Given the description of an element on the screen output the (x, y) to click on. 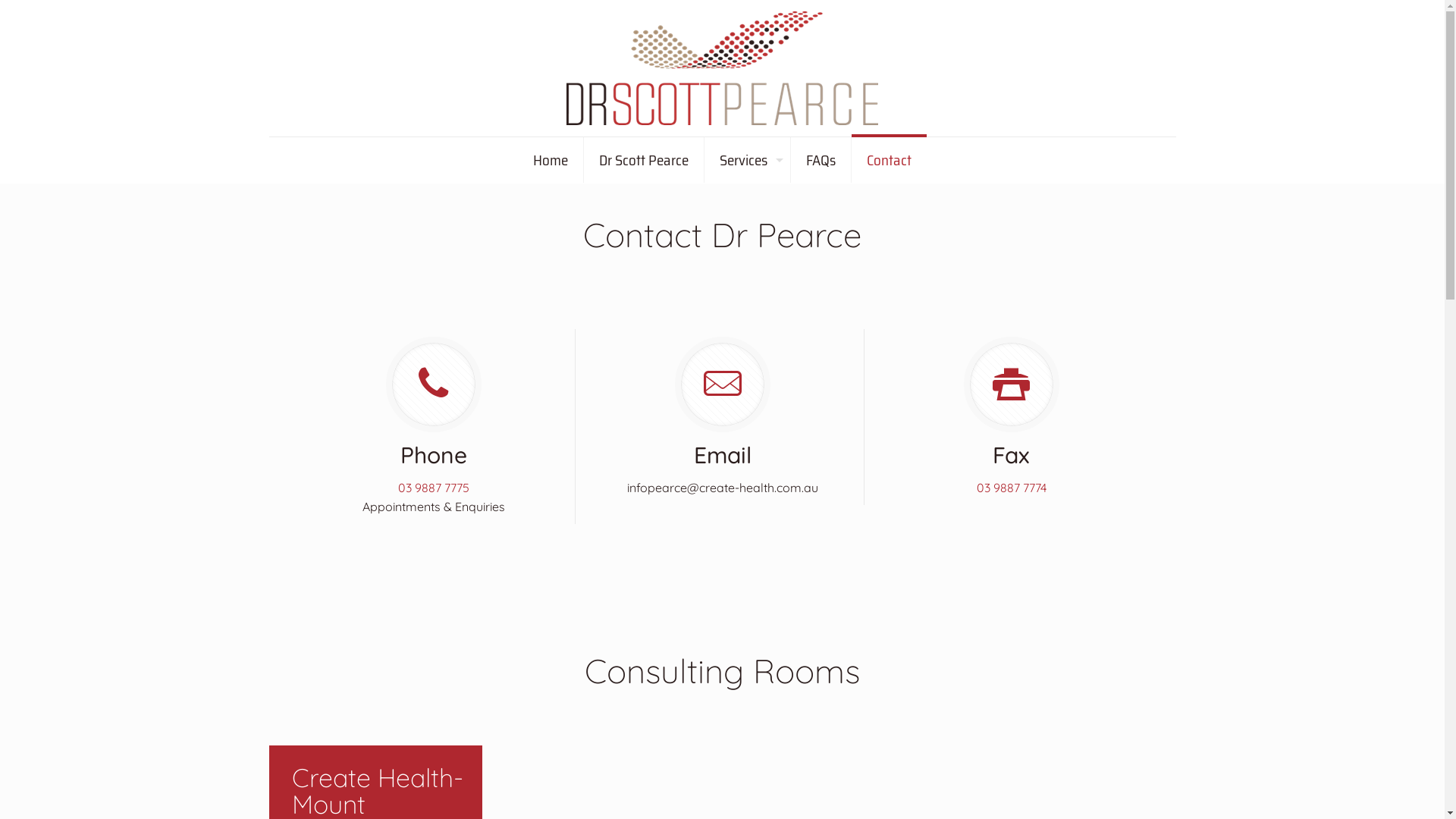
03 9887 7774 Element type: text (1010, 487)
Services Element type: text (747, 159)
03 9887 7775 Element type: text (433, 487)
Dr Scott Pearce Element type: text (643, 159)
Dr Scott Pearce Element type: hover (722, 68)
Home Element type: text (550, 159)
Contact Element type: text (888, 159)
FAQs Element type: text (820, 159)
